Given the description of an element on the screen output the (x, y) to click on. 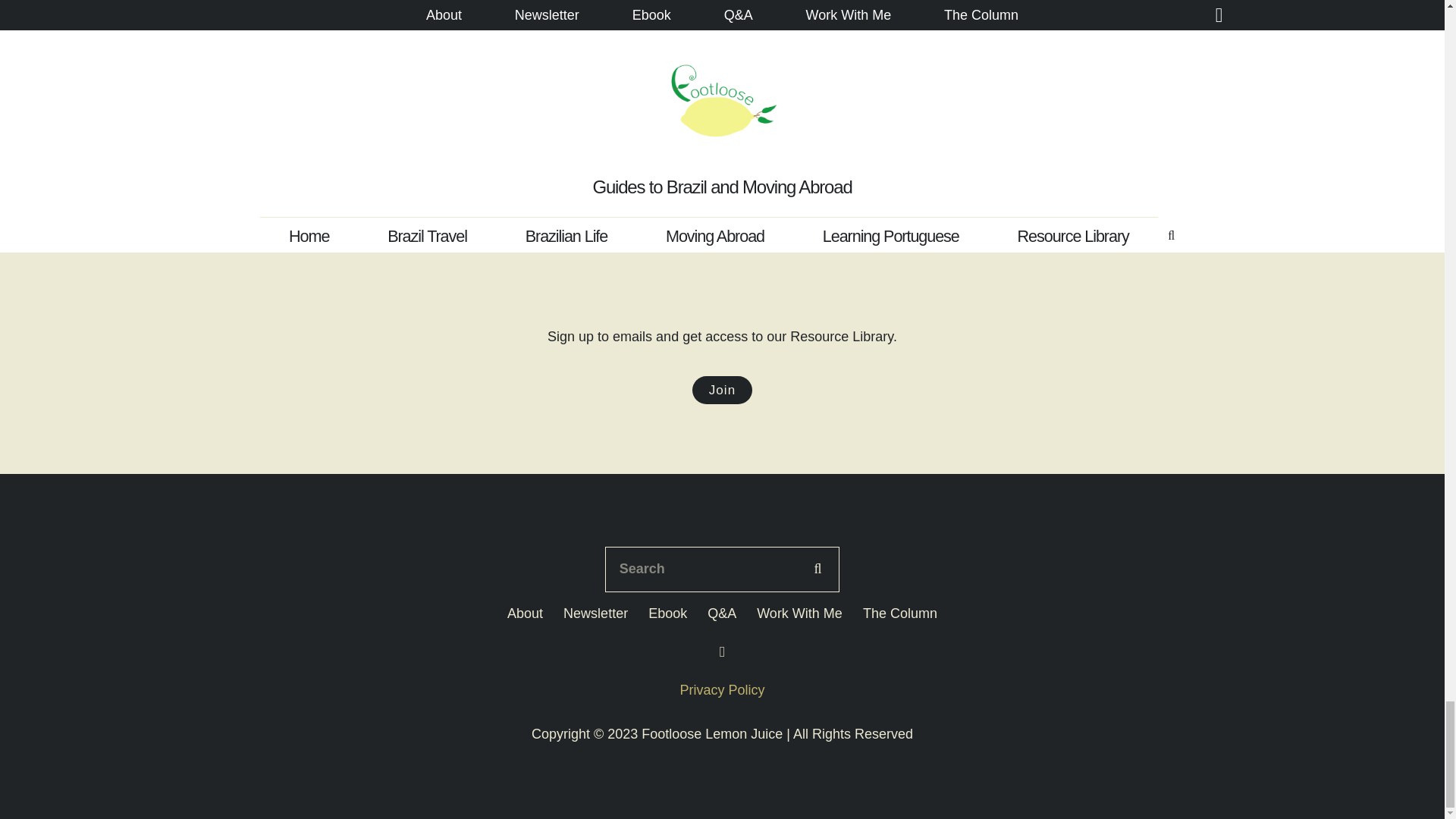
Resource Library (722, 389)
Instagram (721, 651)
